Given the description of an element on the screen output the (x, y) to click on. 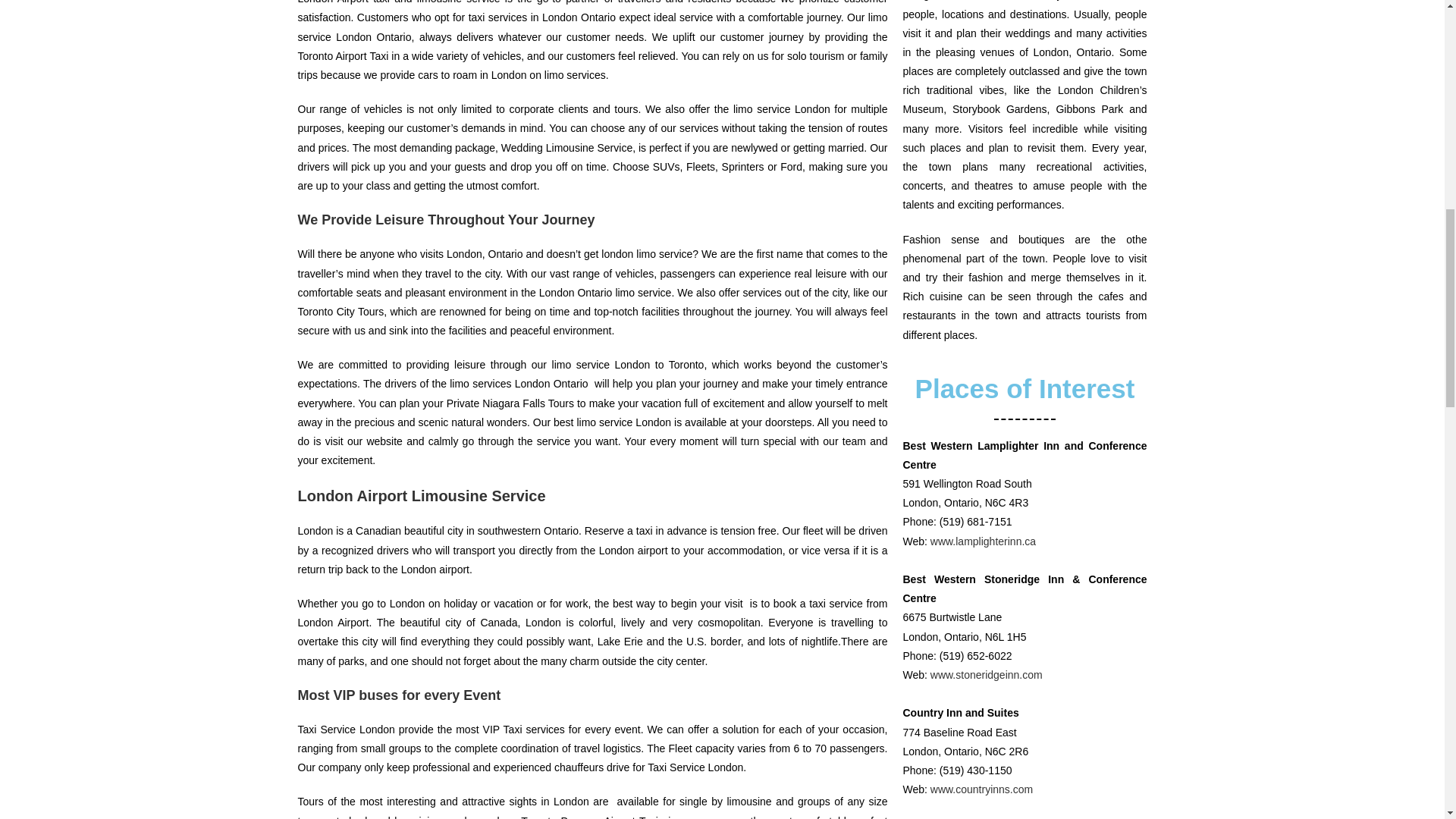
www.countryinns.com (981, 788)
www.lamplighterinn.ca (982, 541)
www.stoneridgeinn.com (986, 674)
